Given the description of an element on the screen output the (x, y) to click on. 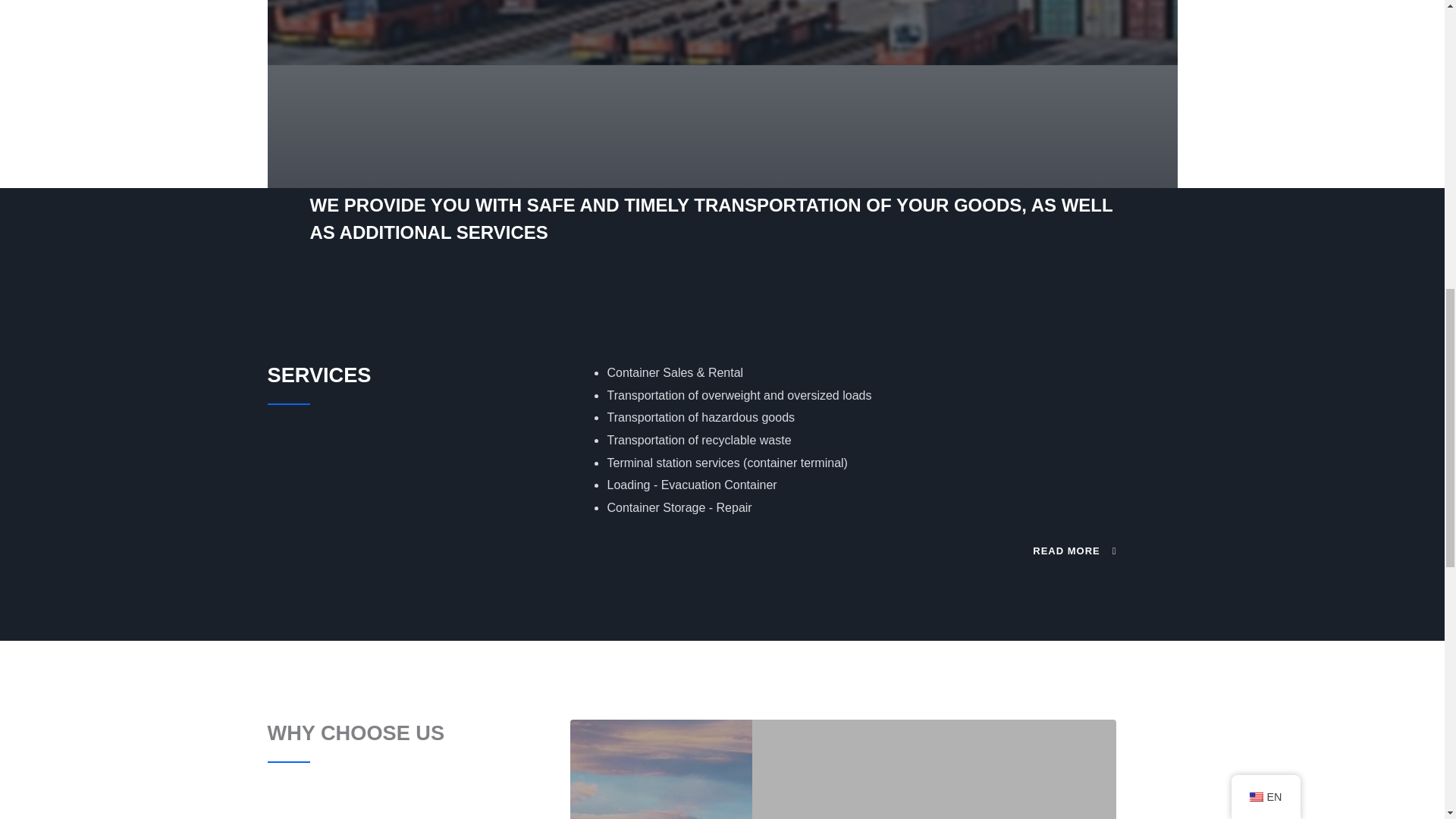
READ MORE (1074, 551)
